Given the description of an element on the screen output the (x, y) to click on. 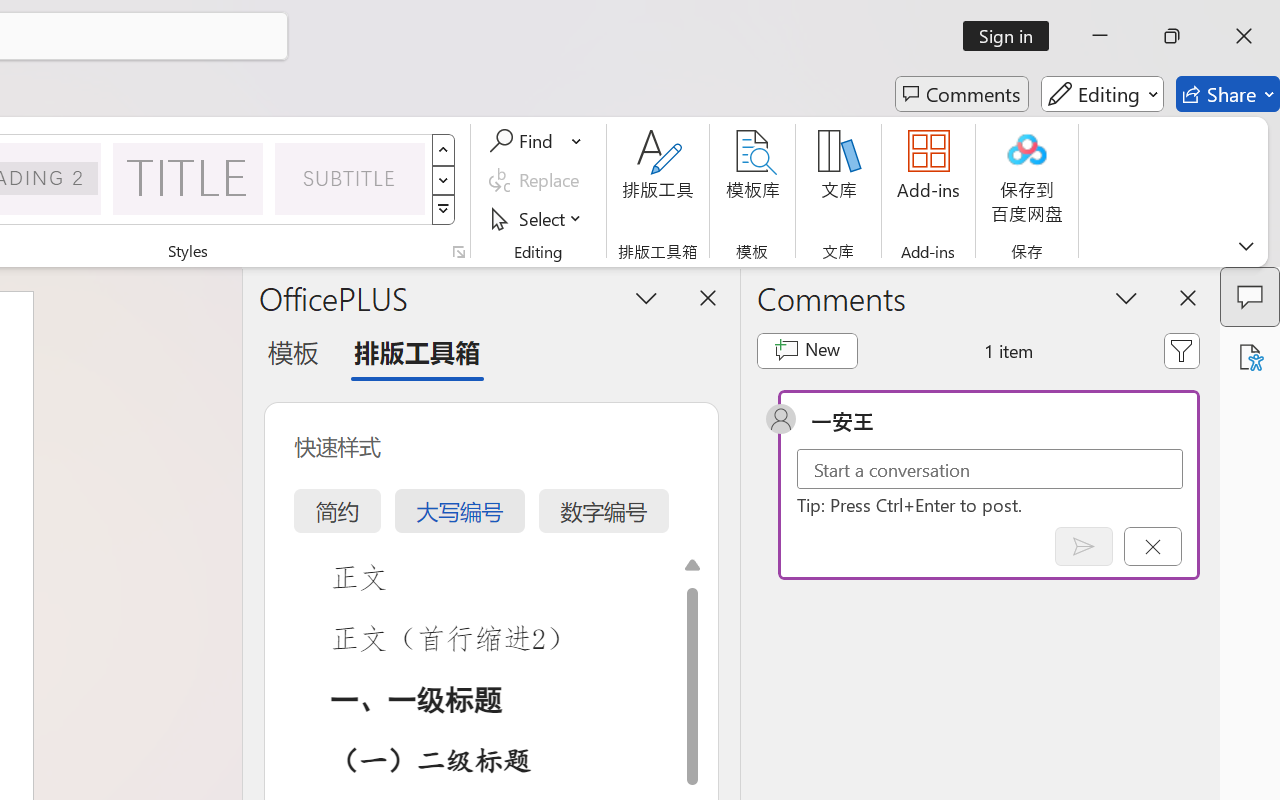
Post comment (Ctrl + Enter) (1083, 546)
